Given the description of an element on the screen output the (x, y) to click on. 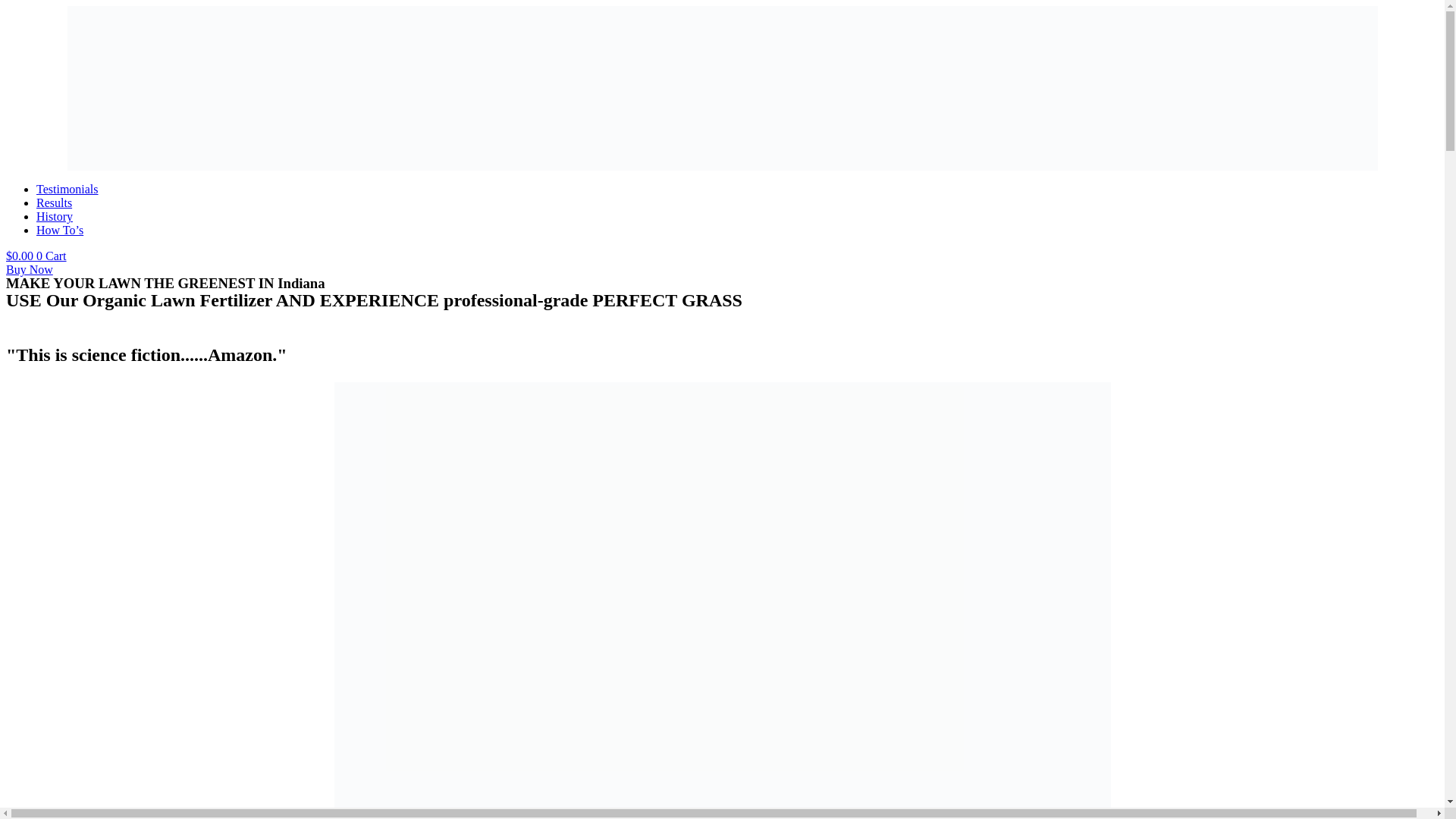
Buy Now (28, 269)
History (54, 215)
Results (53, 202)
Testimonials (67, 188)
